Given the description of an element on the screen output the (x, y) to click on. 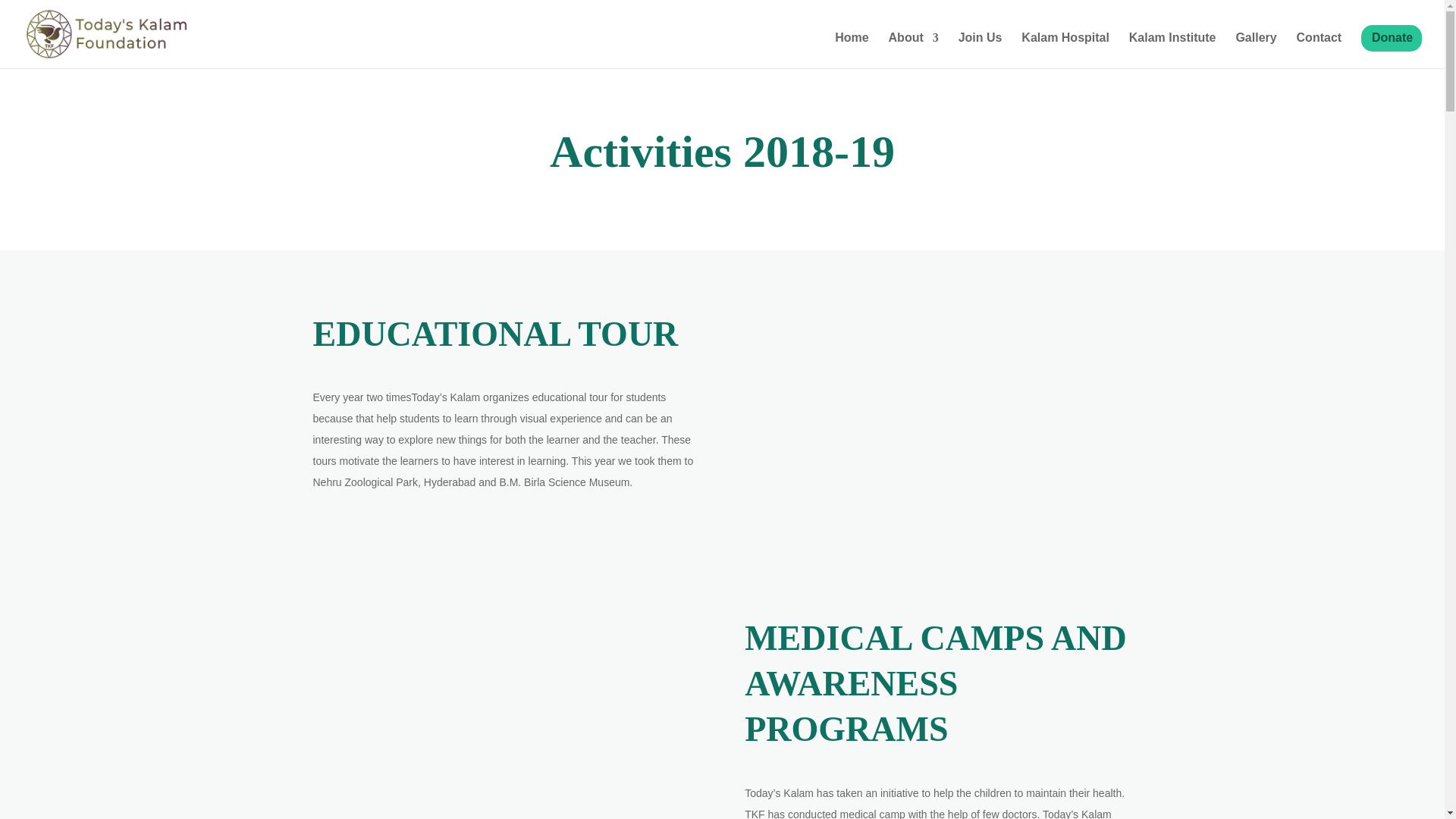
Kalam Institute (1172, 49)
Contact (1319, 49)
Home (850, 49)
Kalam Hospital (1065, 49)
About (913, 49)
Join Us (980, 49)
Donate (1396, 49)
Gallery (1255, 49)
